Given the description of an element on the screen output the (x, y) to click on. 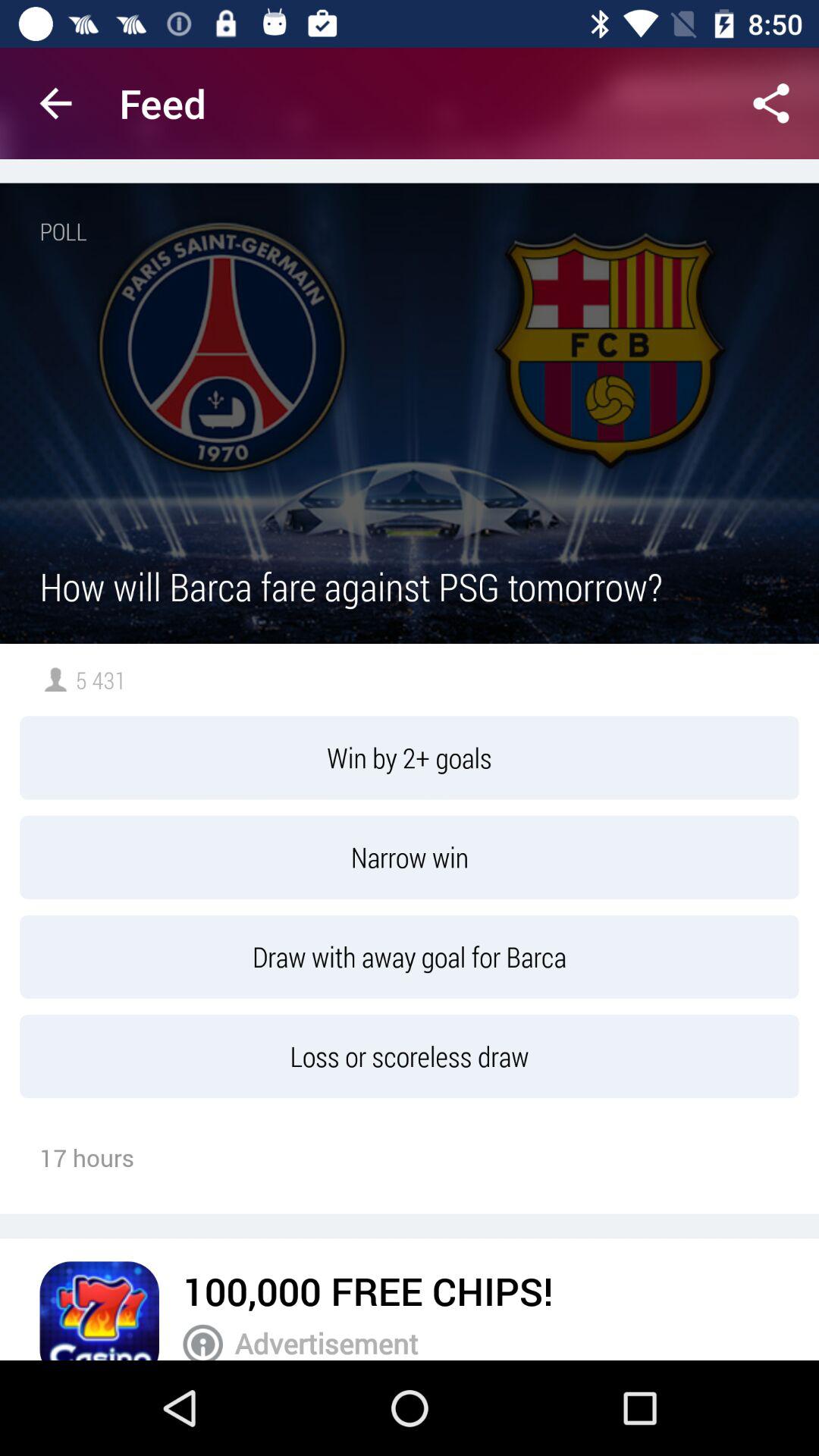
turn off the advertisement icon (506, 1342)
